Given the description of an element on the screen output the (x, y) to click on. 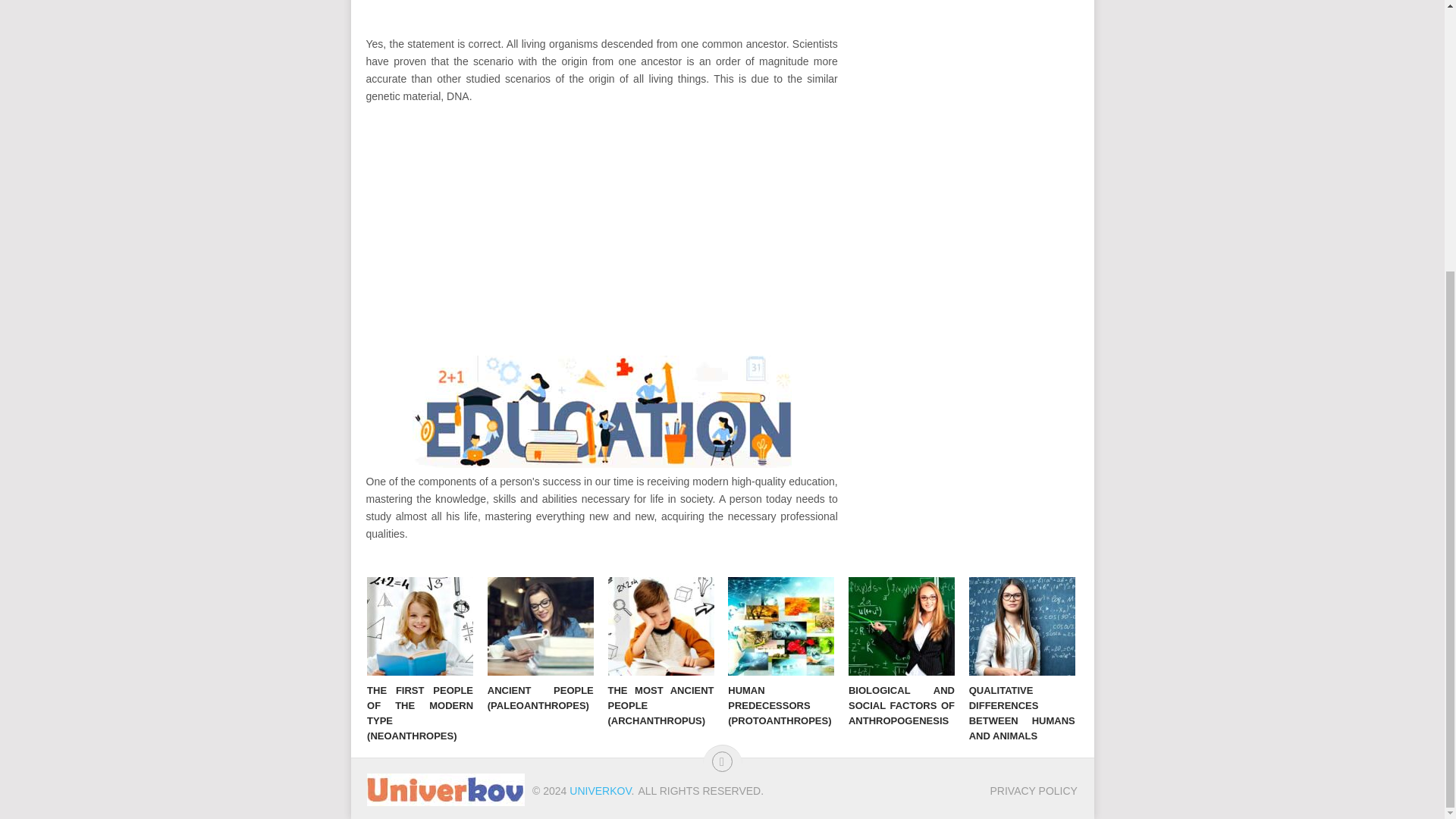
UNIVERKOV (599, 790)
Advertisement (601, 18)
QUALITATIVE DIFFERENCES BETWEEN HUMANS AND ANIMALS (1022, 626)
Advertisement (601, 220)
PRIVACY POLICY (1033, 790)
BIOLOGICAL AND SOCIAL FACTORS OF ANTHROPOGENESIS (901, 626)
